Given the description of an element on the screen output the (x, y) to click on. 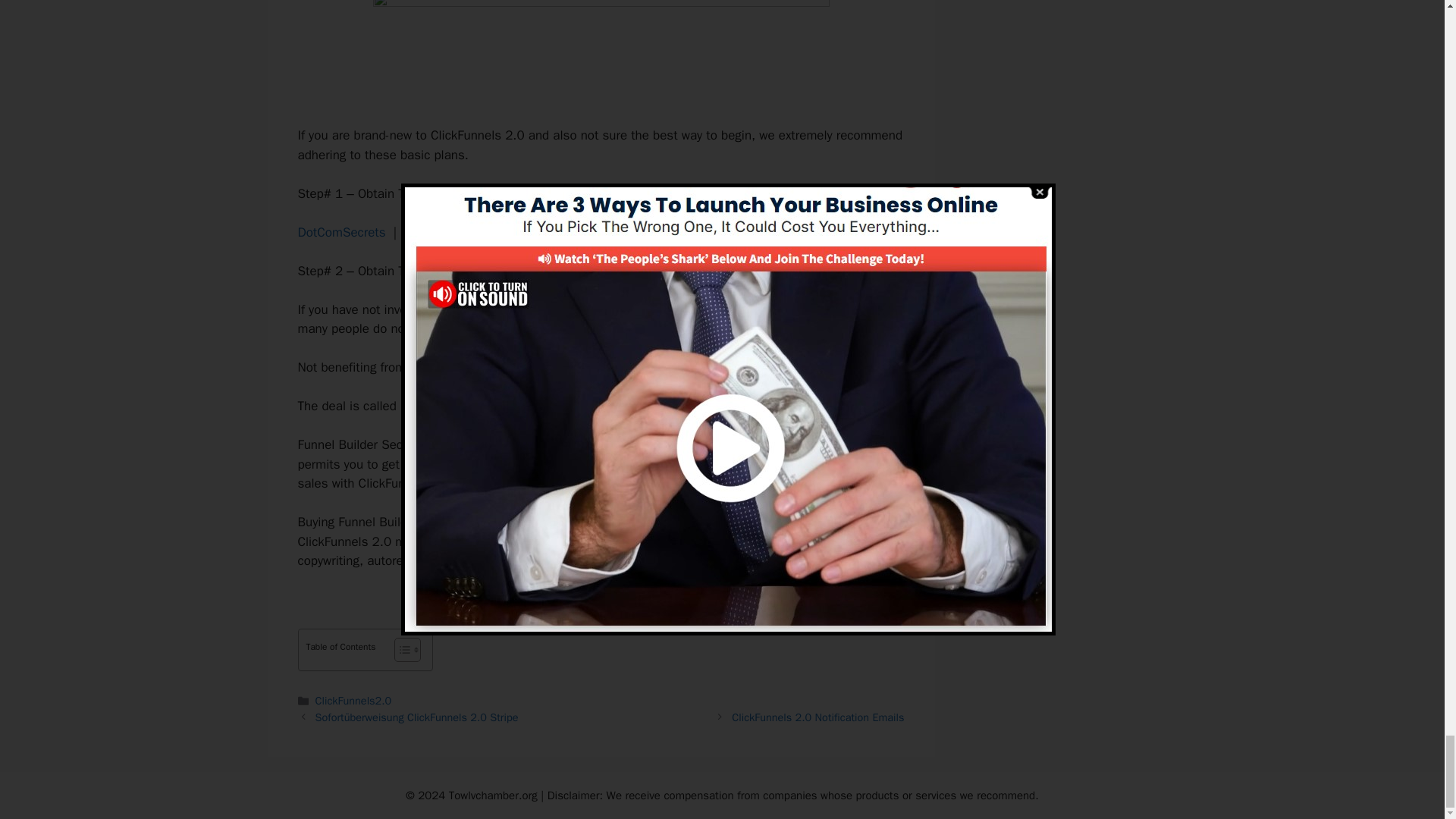
ClickFunnels 2.0 (495, 309)
Traffic Secrets (545, 232)
DotComSecrets (341, 232)
Expert Secrets (445, 232)
Funnel Builder Secrets (463, 406)
